Given the description of an element on the screen output the (x, y) to click on. 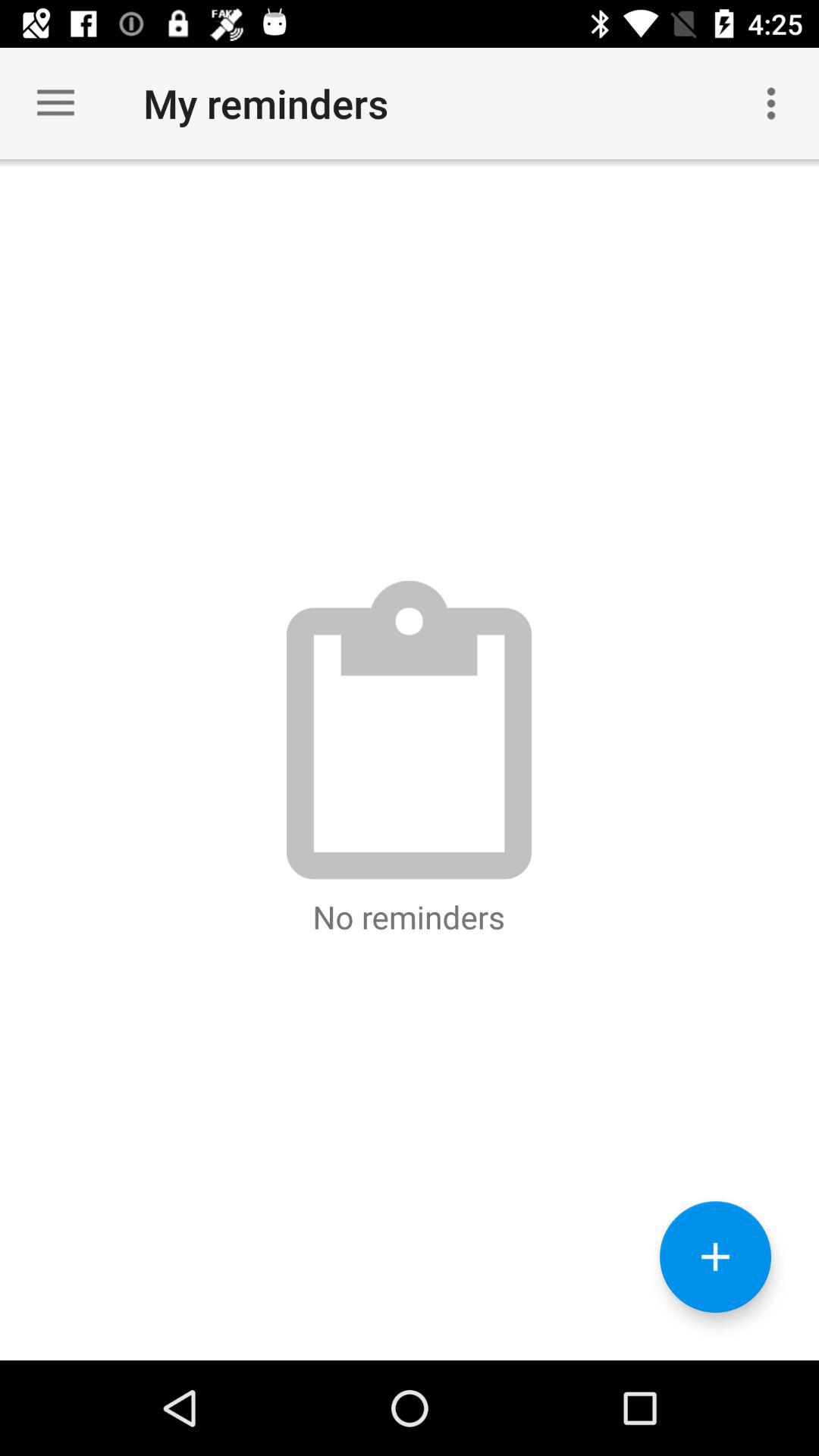
add a reminder (715, 1256)
